Given the description of an element on the screen output the (x, y) to click on. 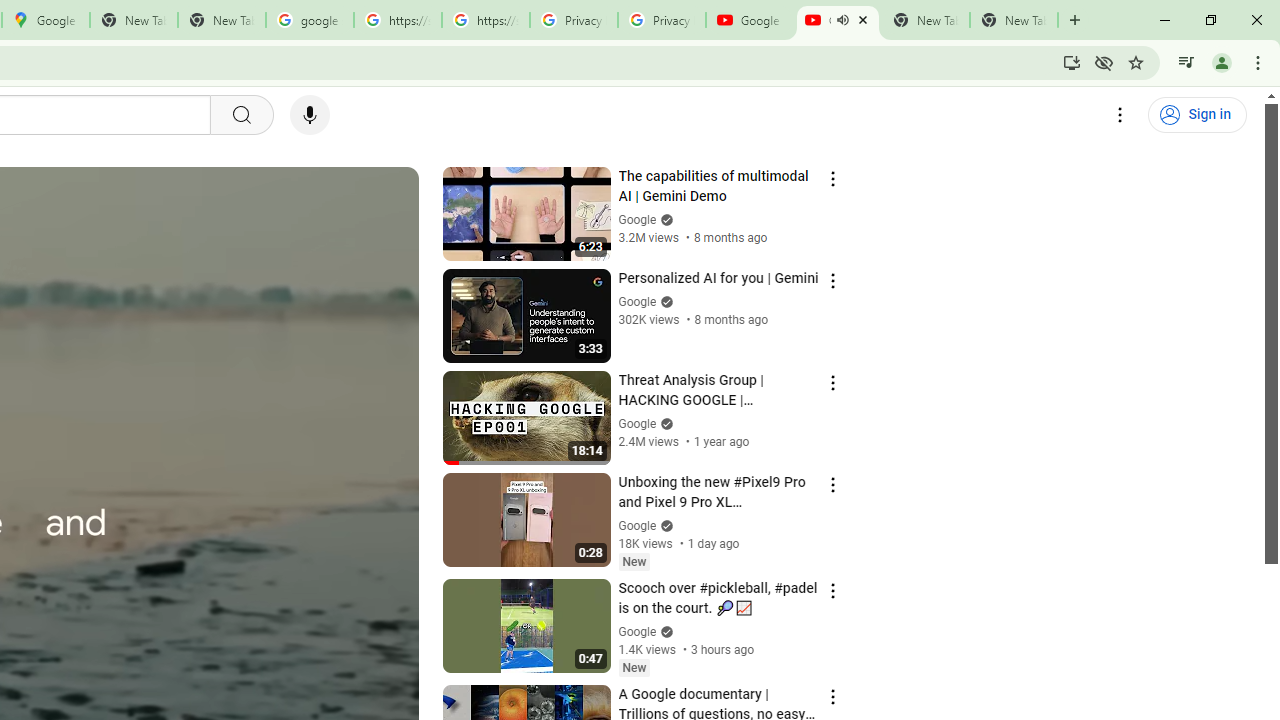
Chrome (1260, 62)
